Given the description of an element on the screen output the (x, y) to click on. 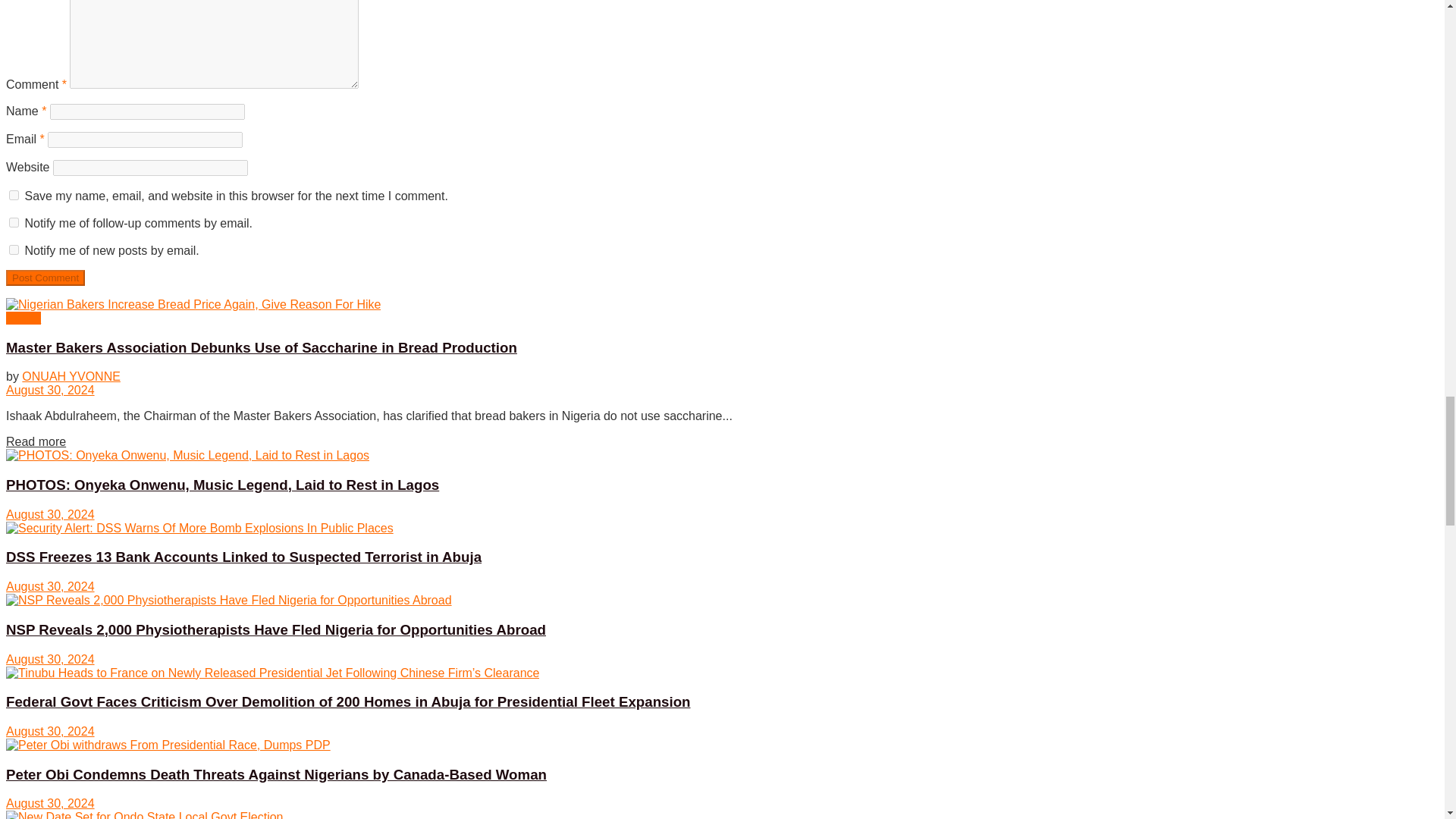
subscribe (13, 249)
Post Comment (44, 277)
yes (13, 194)
subscribe (13, 222)
